Given the description of an element on the screen output the (x, y) to click on. 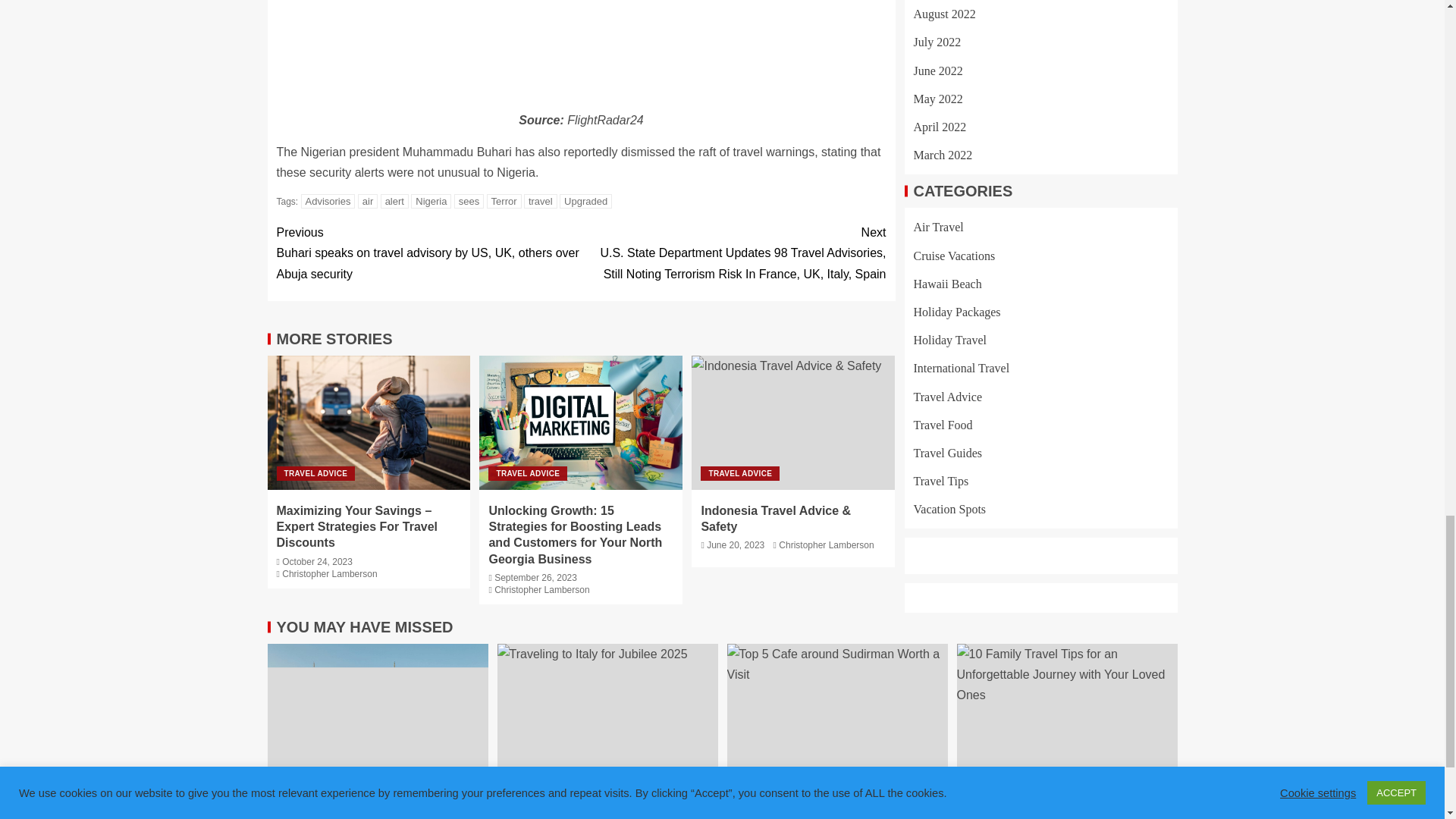
Christopher Lamberson (329, 573)
Top 5 Cafe around Sudirman Worth a Visit (836, 719)
Traveling to Italy for Jubilee 2025 (607, 719)
Advisories (328, 201)
alert (394, 201)
travel (540, 201)
TRAVEL ADVICE (527, 473)
Terror (503, 201)
air (367, 201)
